Given the description of an element on the screen output the (x, y) to click on. 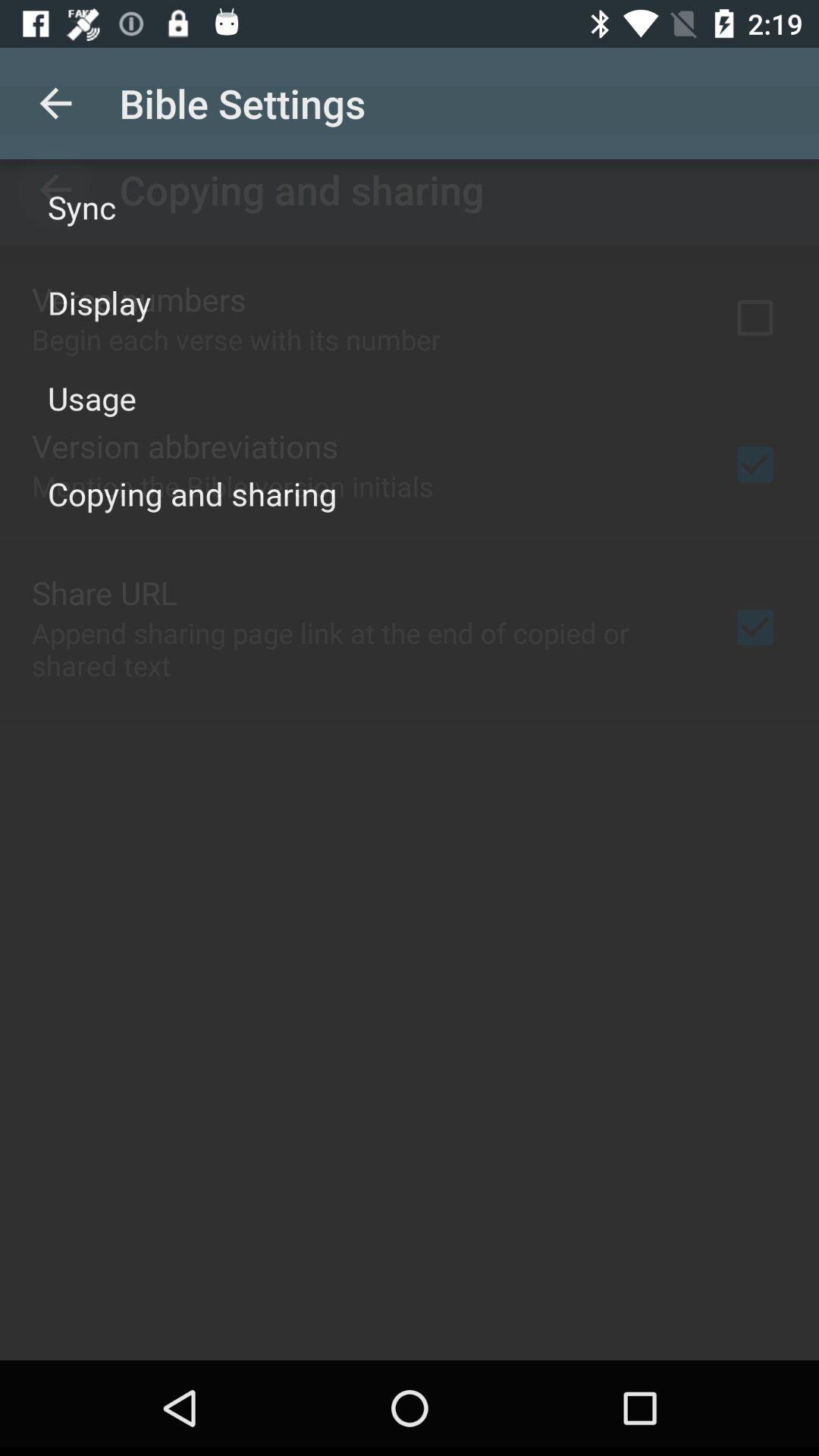
press the sync icon (81, 206)
